Given the description of an element on the screen output the (x, y) to click on. 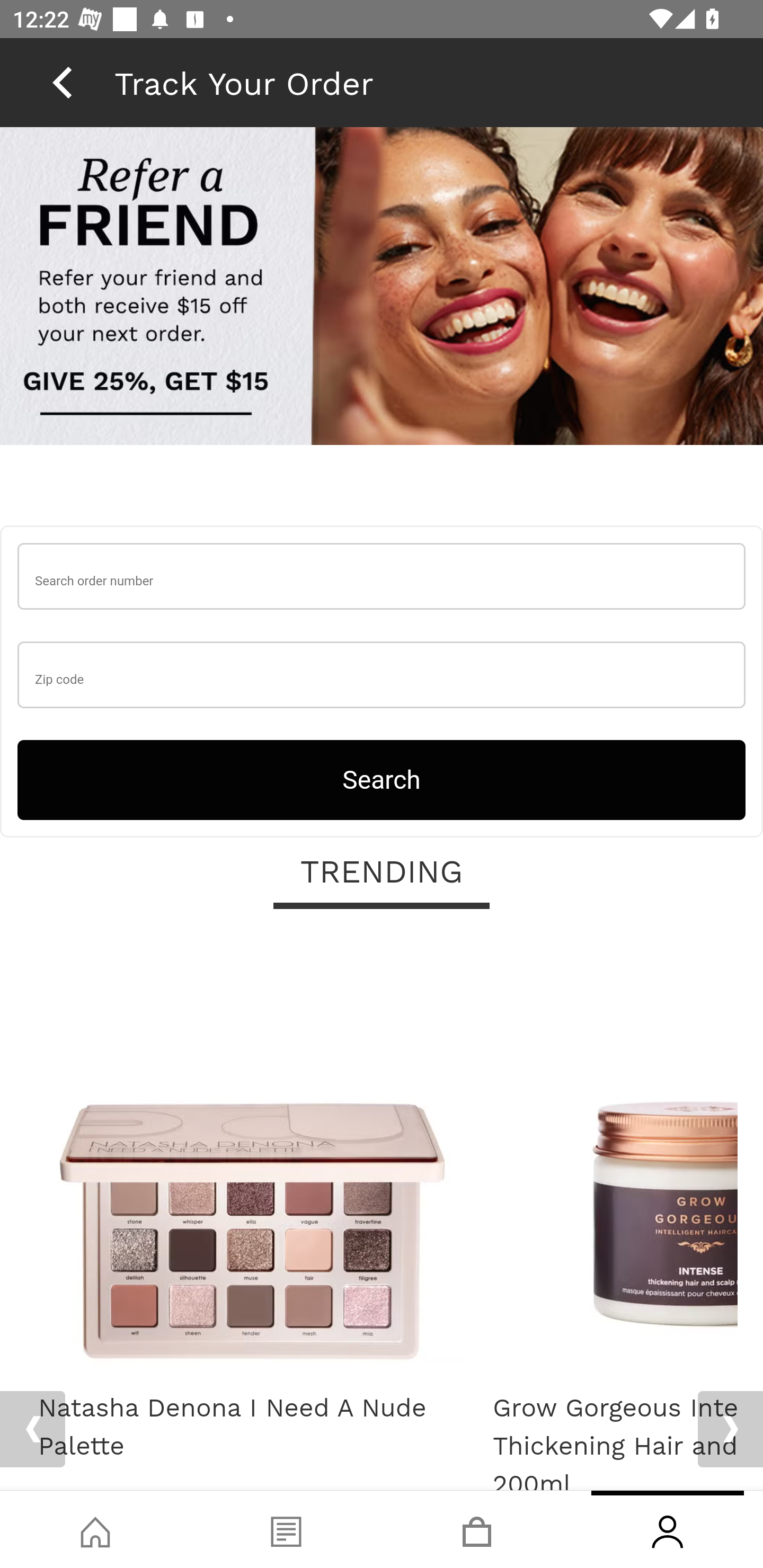
back (61, 82)
raf (381, 288)
Search (381, 779)
TRENDING (381, 874)
Natasha Denona I Need A Nude Palette (252, 1156)
Natasha Denona I Need A Nude Palette (252, 1428)
Previous (32, 1428)
Next (730, 1428)
Shop, tab, 1 of 4 (95, 1529)
Blog, tab, 2 of 4 (285, 1529)
Basket, tab, 3 of 4 (476, 1529)
Account, tab, 4 of 4 (667, 1529)
